Given the description of an element on the screen output the (x, y) to click on. 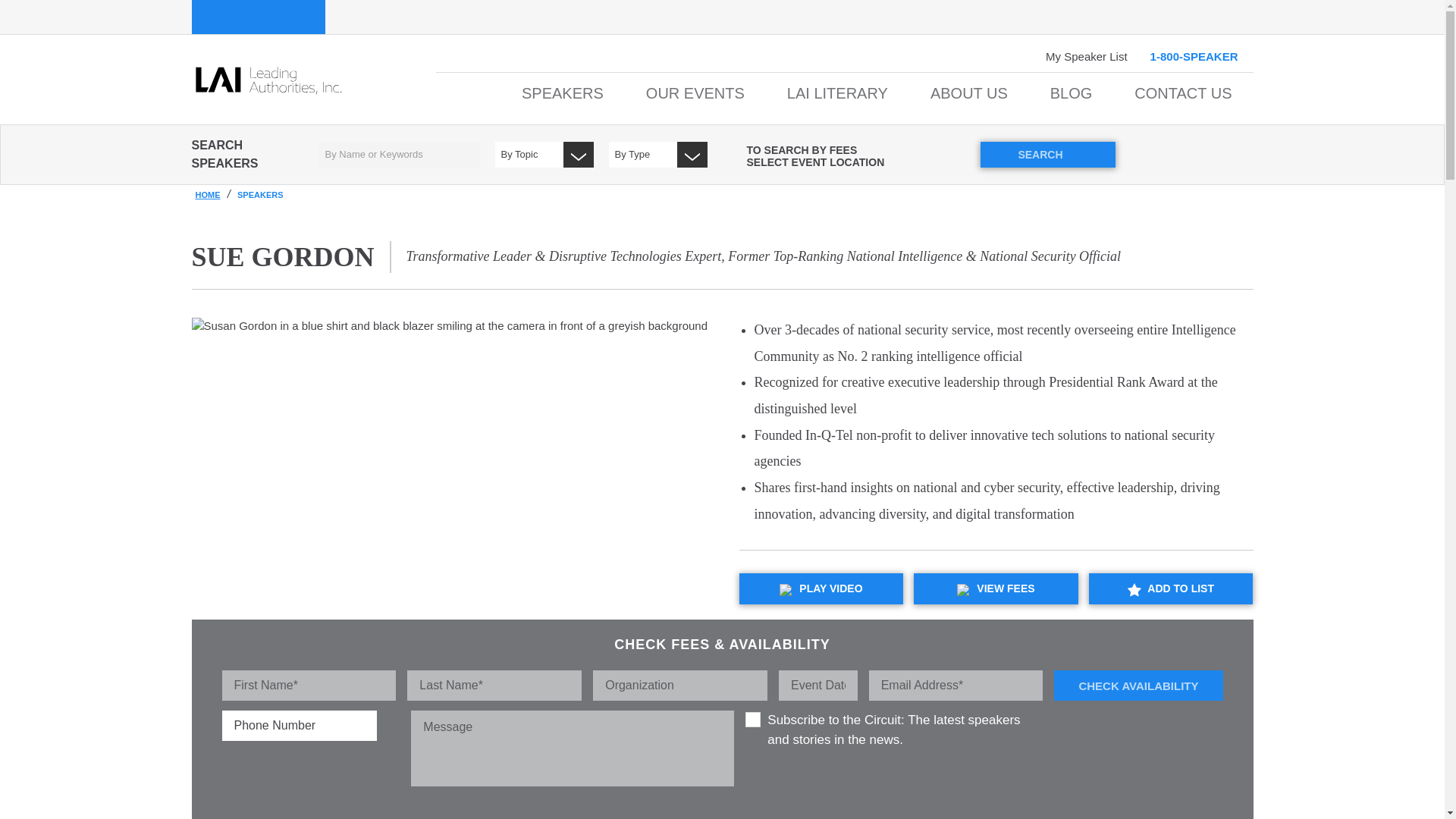
Home (312, 79)
My Speaker List (1085, 57)
SEARCH (1047, 153)
LAI Speakers (257, 16)
LAI Live (502, 16)
SPEAKERS (562, 98)
LAI Video (390, 16)
OUR EVENTS (694, 98)
CHECK AVAILABILITY (1138, 685)
1-800-SPEAKER (1194, 56)
